Given the description of an element on the screen output the (x, y) to click on. 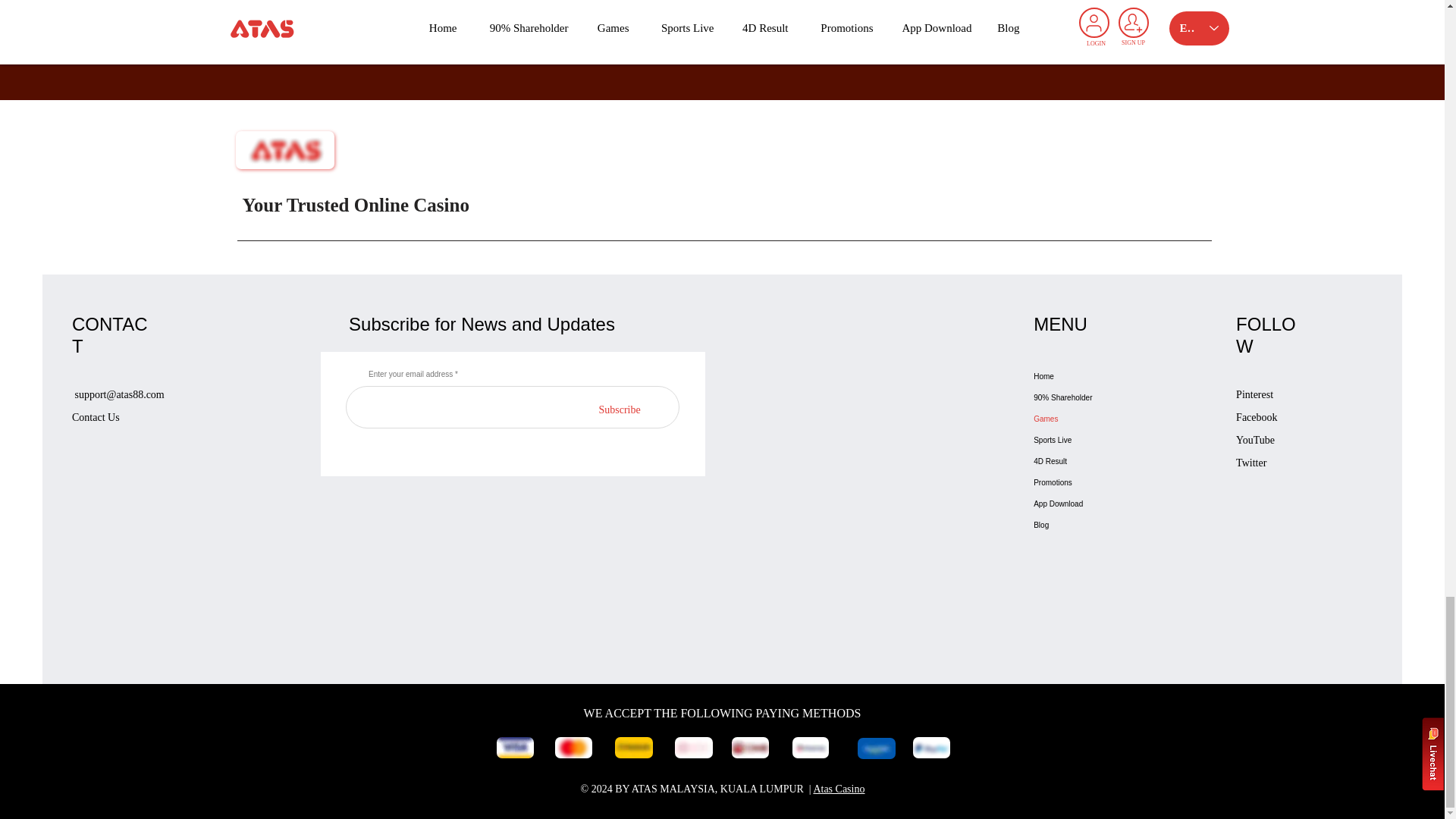
JOIN NOW (721, 19)
APK (758, 52)
Red Full.png (283, 149)
iOS (728, 52)
Android (693, 52)
